Given the description of an element on the screen output the (x, y) to click on. 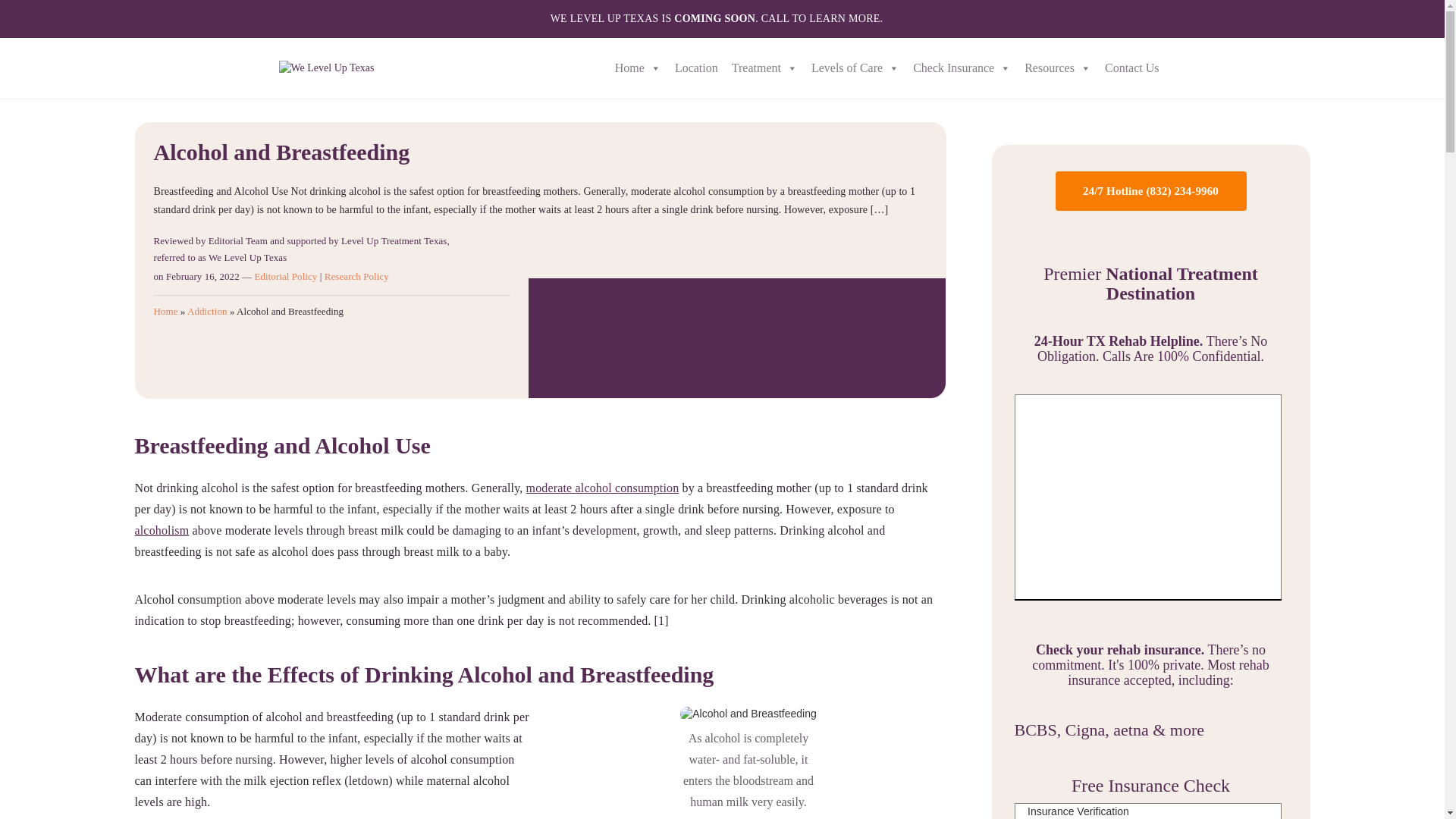
Treatment (765, 68)
WE LEVEL UP TEXAS IS COMING SOON. CALL TO LEARN MORE. (722, 18)
Alcohol and Breastfeeding (747, 713)
WE LEVEL UP TEXAS IS COMING SOON. CALL TO LEARN MORE. (722, 18)
Location (696, 68)
Home (638, 68)
